Given the description of an element on the screen output the (x, y) to click on. 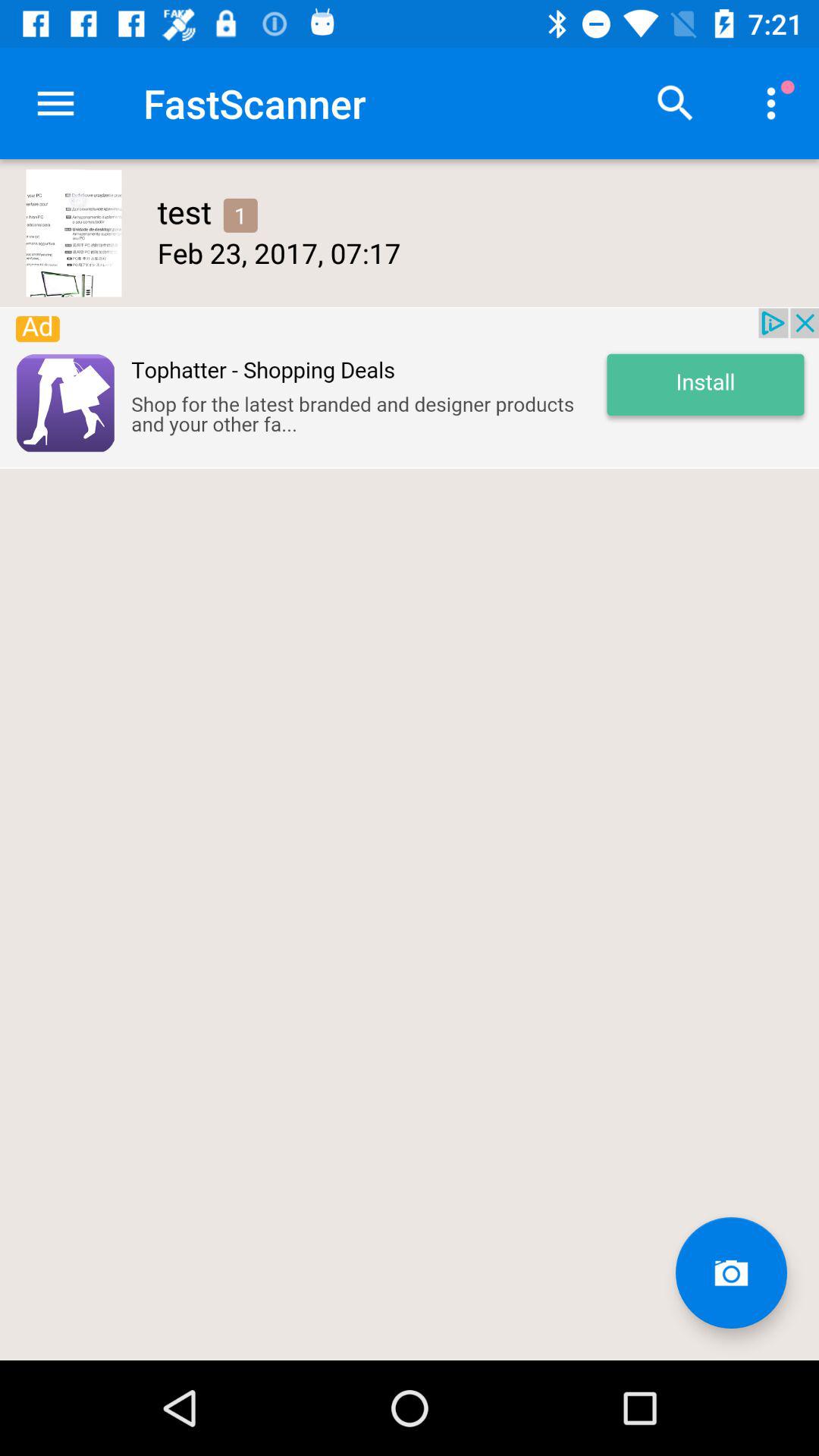
menu page (675, 103)
